Given the description of an element on the screen output the (x, y) to click on. 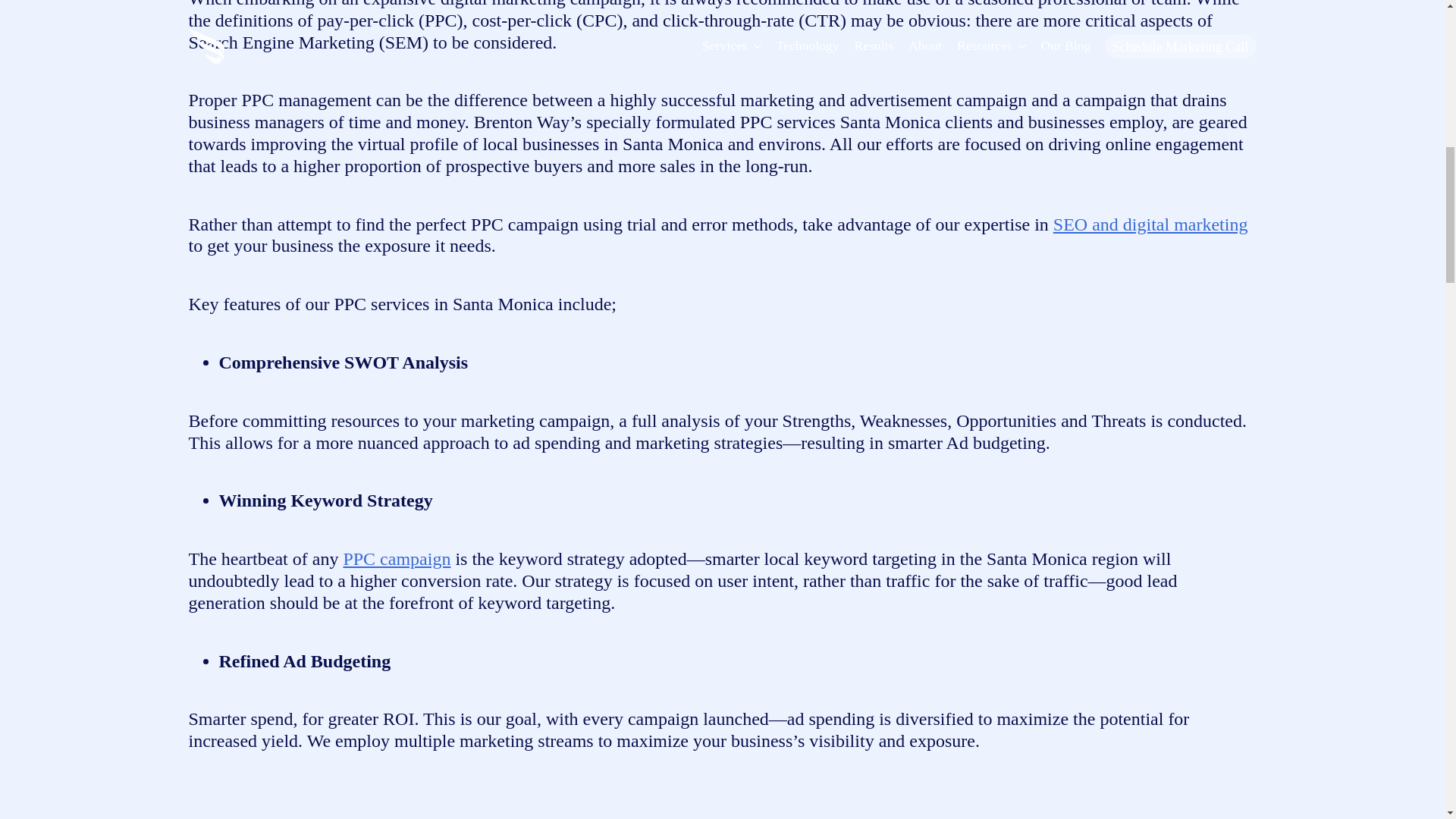
ppc services santa monica (300, 803)
